Given the description of an element on the screen output the (x, y) to click on. 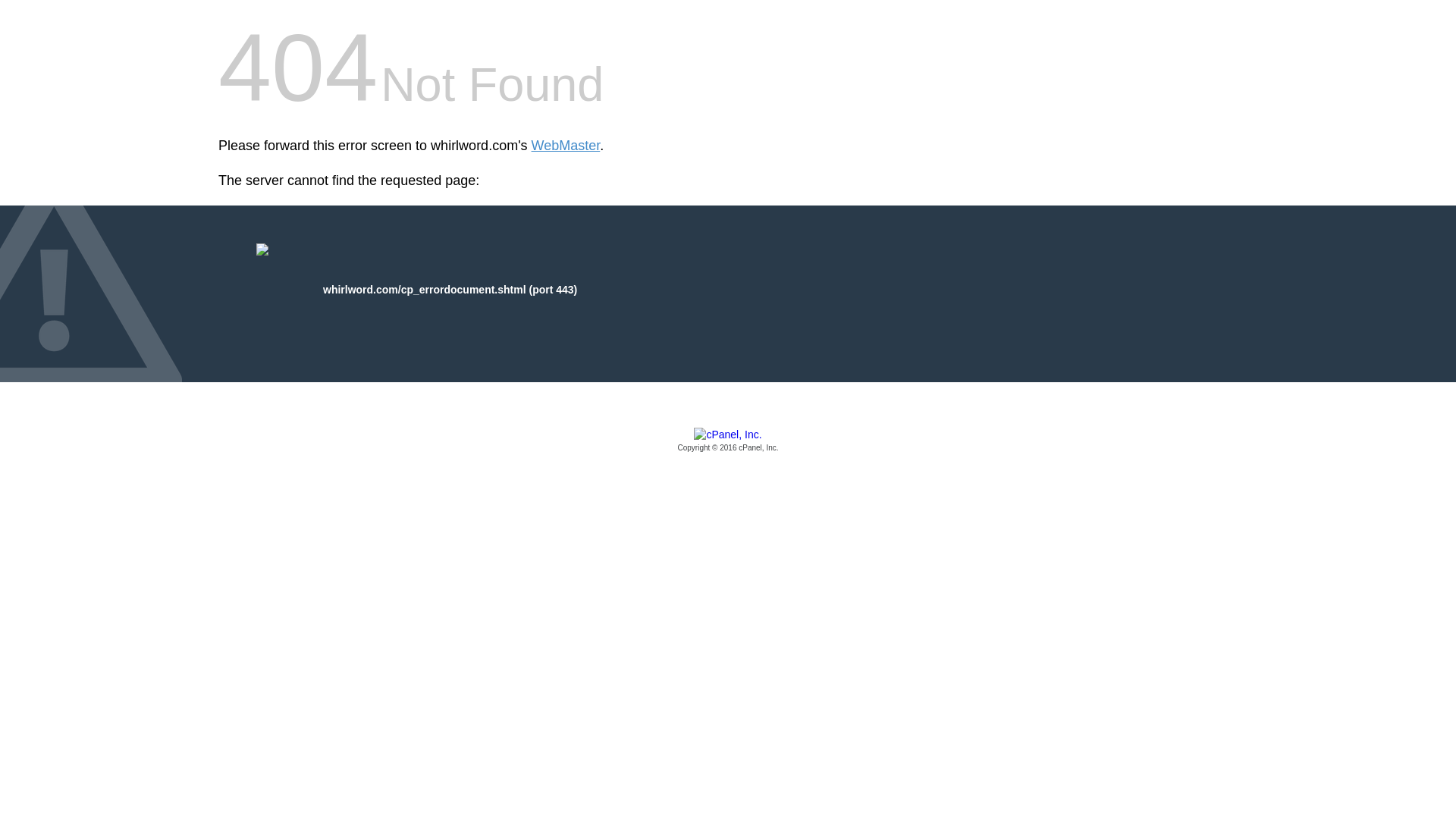
WebMaster (565, 145)
cPanel, Inc. (727, 440)
